Given the description of an element on the screen output the (x, y) to click on. 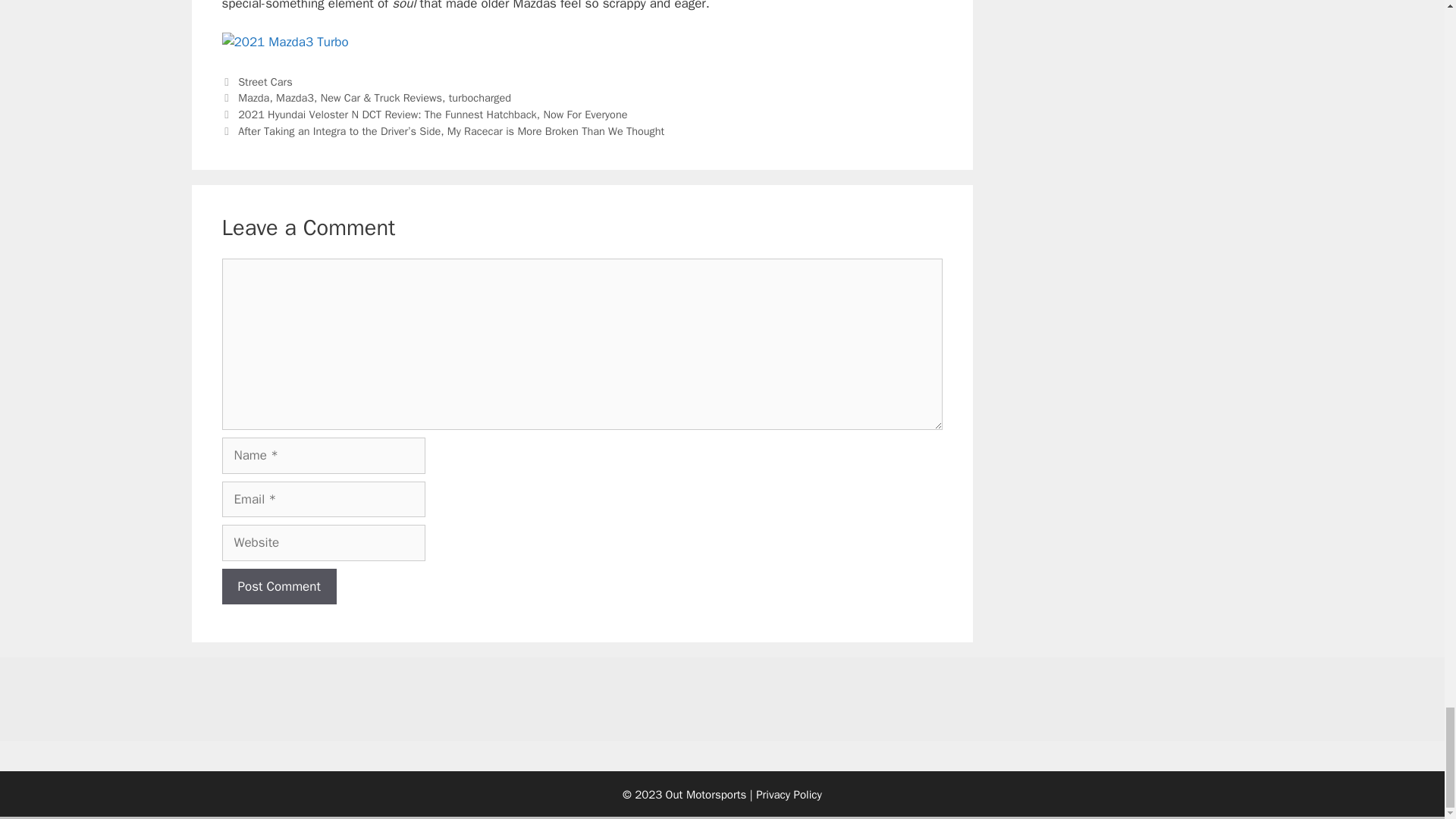
Mazda (253, 97)
Post Comment (278, 586)
Privacy Policy (788, 794)
Street Cars (265, 81)
Mazda3 (295, 97)
turbocharged (479, 97)
Post Comment (278, 586)
